Given the description of an element on the screen output the (x, y) to click on. 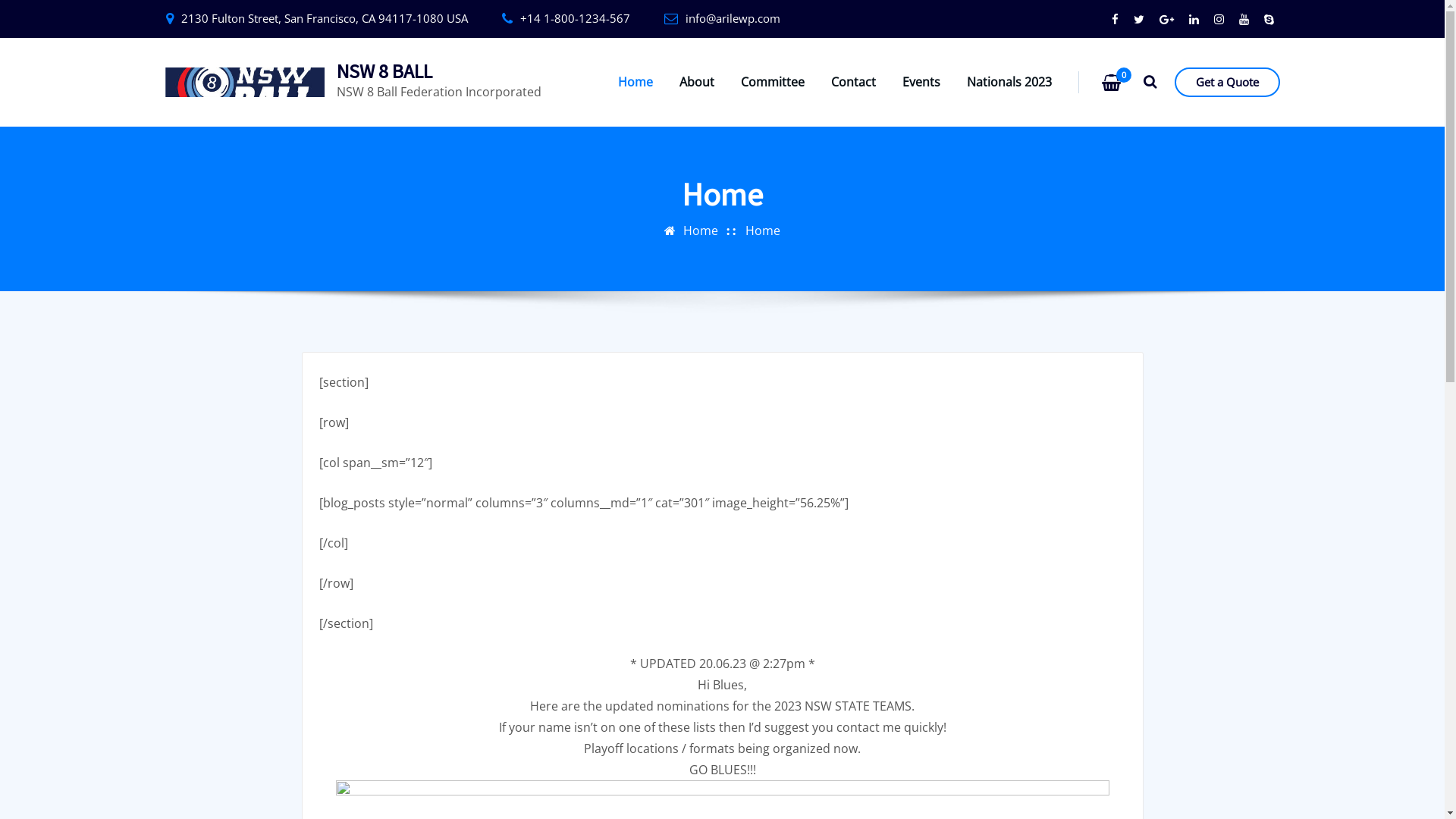
About Element type: text (696, 81)
Home Element type: text (700, 230)
Events Element type: text (921, 81)
NSW 8 BALL Element type: text (384, 71)
Committee Element type: text (772, 81)
Nationals 2023 Element type: text (1008, 81)
Contact Element type: text (853, 81)
info@arilewp.com Element type: text (732, 17)
Get a Quote Element type: text (1226, 82)
Home Element type: text (635, 81)
